Given the description of an element on the screen output the (x, y) to click on. 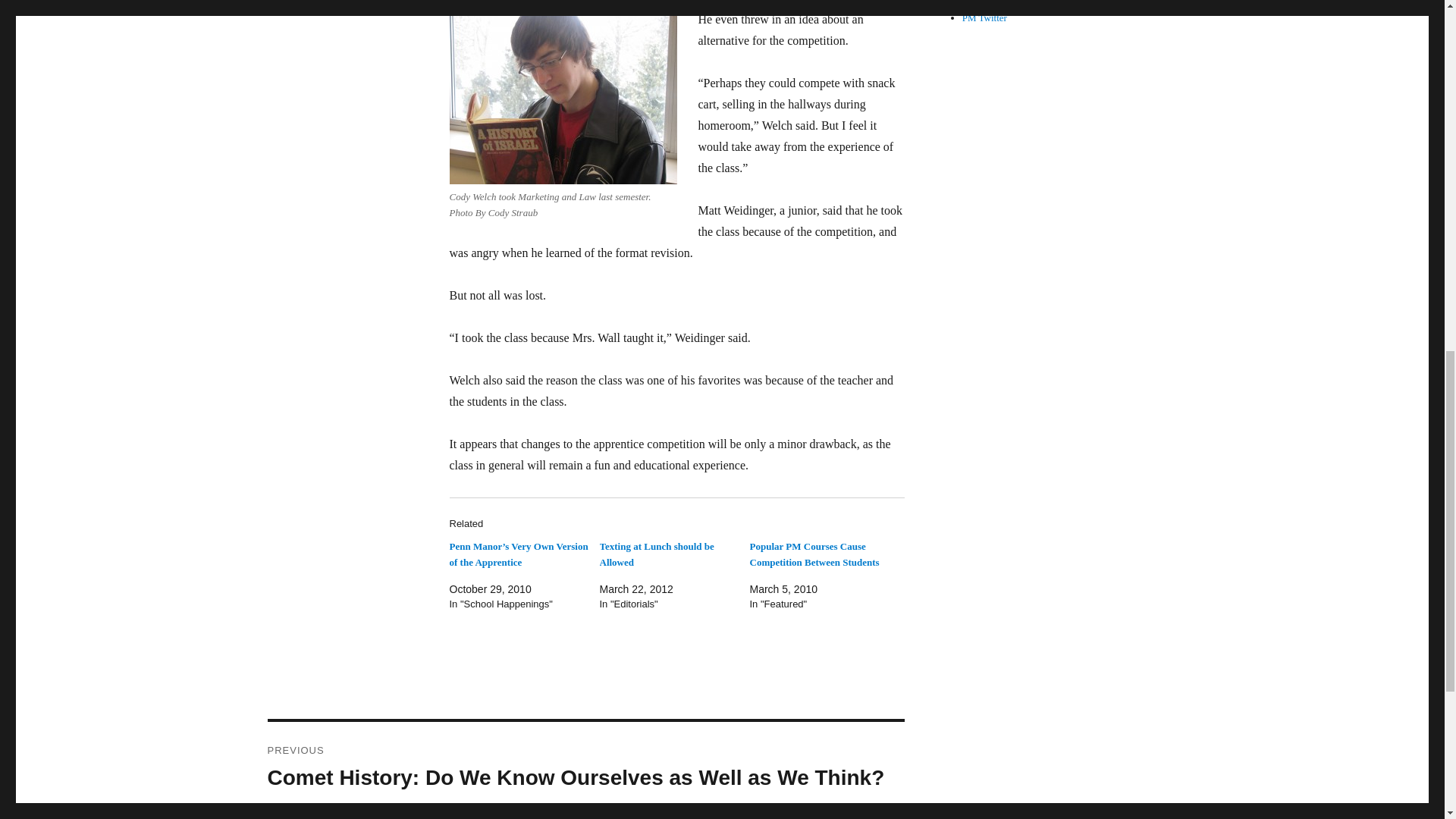
Popular PM Courses Cause Competition Between Students (814, 554)
PM Twitter (984, 17)
Popular PM Courses Cause Competition Between Students (814, 554)
Texting at Lunch should be Allowed (655, 554)
Texting at Lunch should be Allowed (655, 554)
PM High School (1012, 3)
Penn Manor High School (1012, 3)
PM Twitter (984, 17)
